Given the description of an element on the screen output the (x, y) to click on. 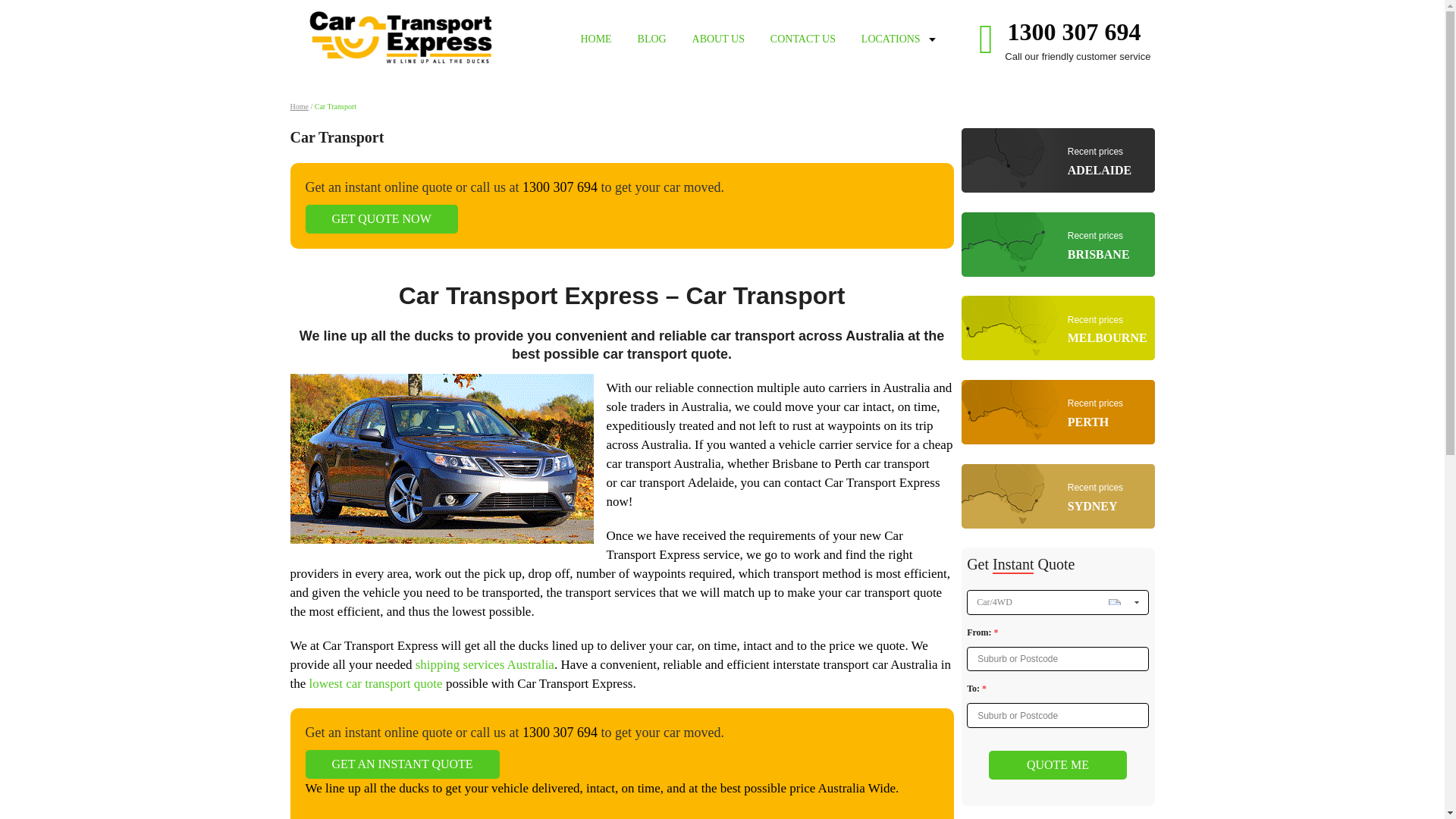
QUOTE ME (1057, 765)
HOME (595, 39)
GET AN INSTANT QUOTE (401, 764)
1300 307 694 (1073, 31)
Home (1057, 246)
GET QUOTE NOW (298, 106)
BLOG (380, 218)
LOCATIONS (651, 39)
lowest car transport quote (890, 39)
shipping services Australia (1057, 498)
